Given the description of an element on the screen output the (x, y) to click on. 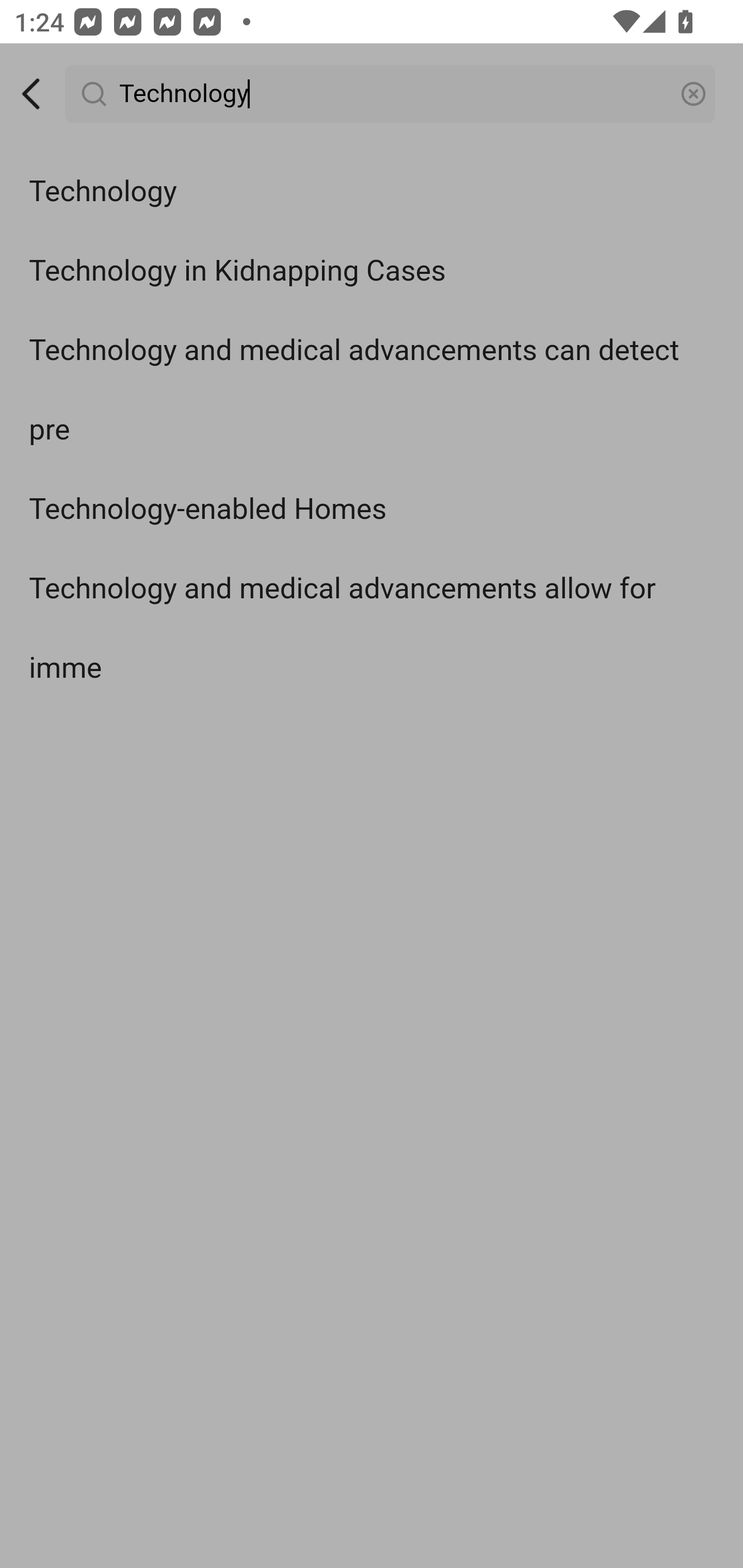
Technology (390, 93)
Technology (371, 192)
Technology in Kidnapping Cases (371, 270)
Technology and medical advancements can detect pre (371, 390)
Technology-enabled Homes (371, 508)
Technology and medical advancements allow for imme (371, 628)
